Given the description of an element on the screen output the (x, y) to click on. 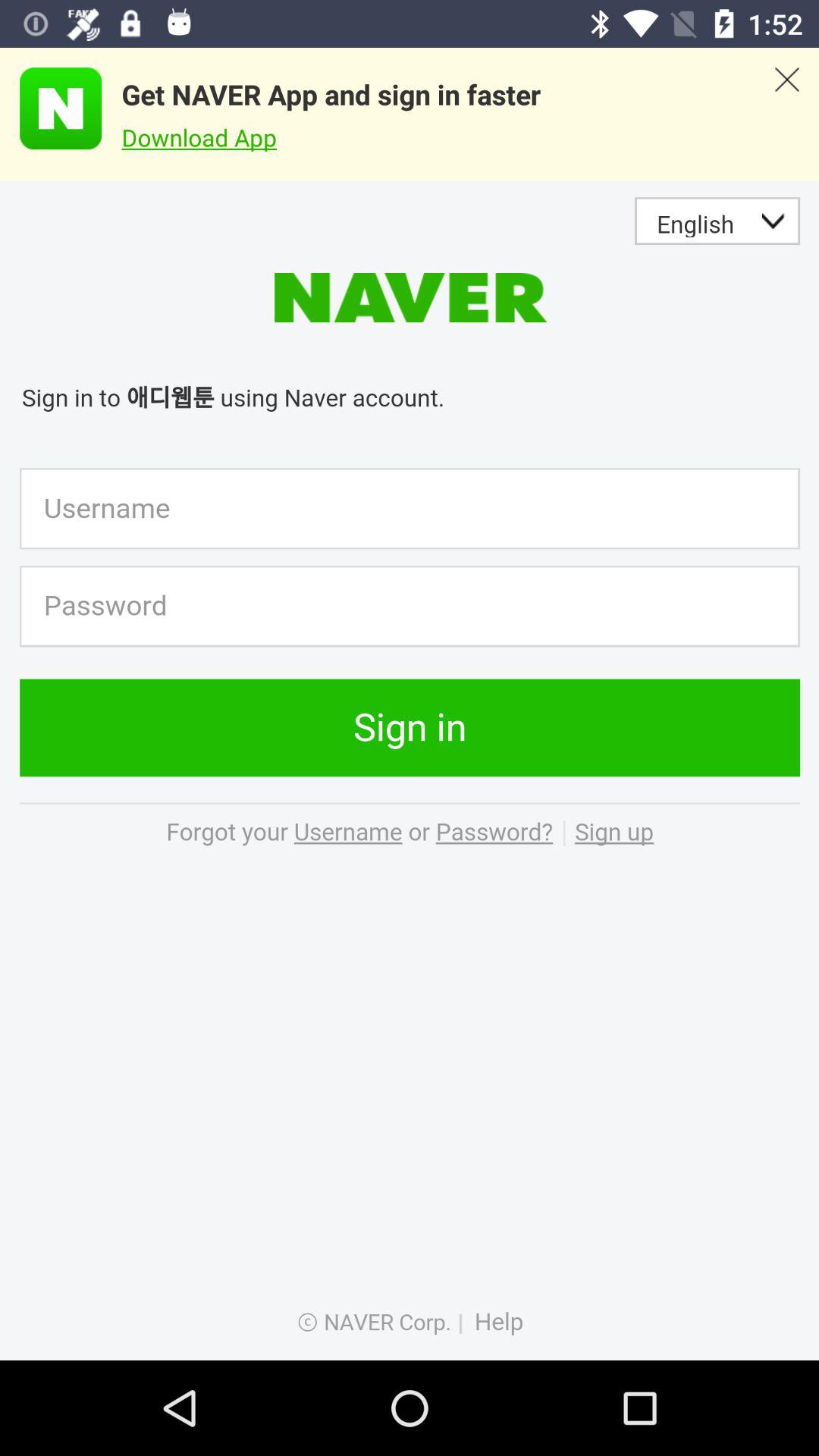
advertisement (50, 108)
